Given the description of an element on the screen output the (x, y) to click on. 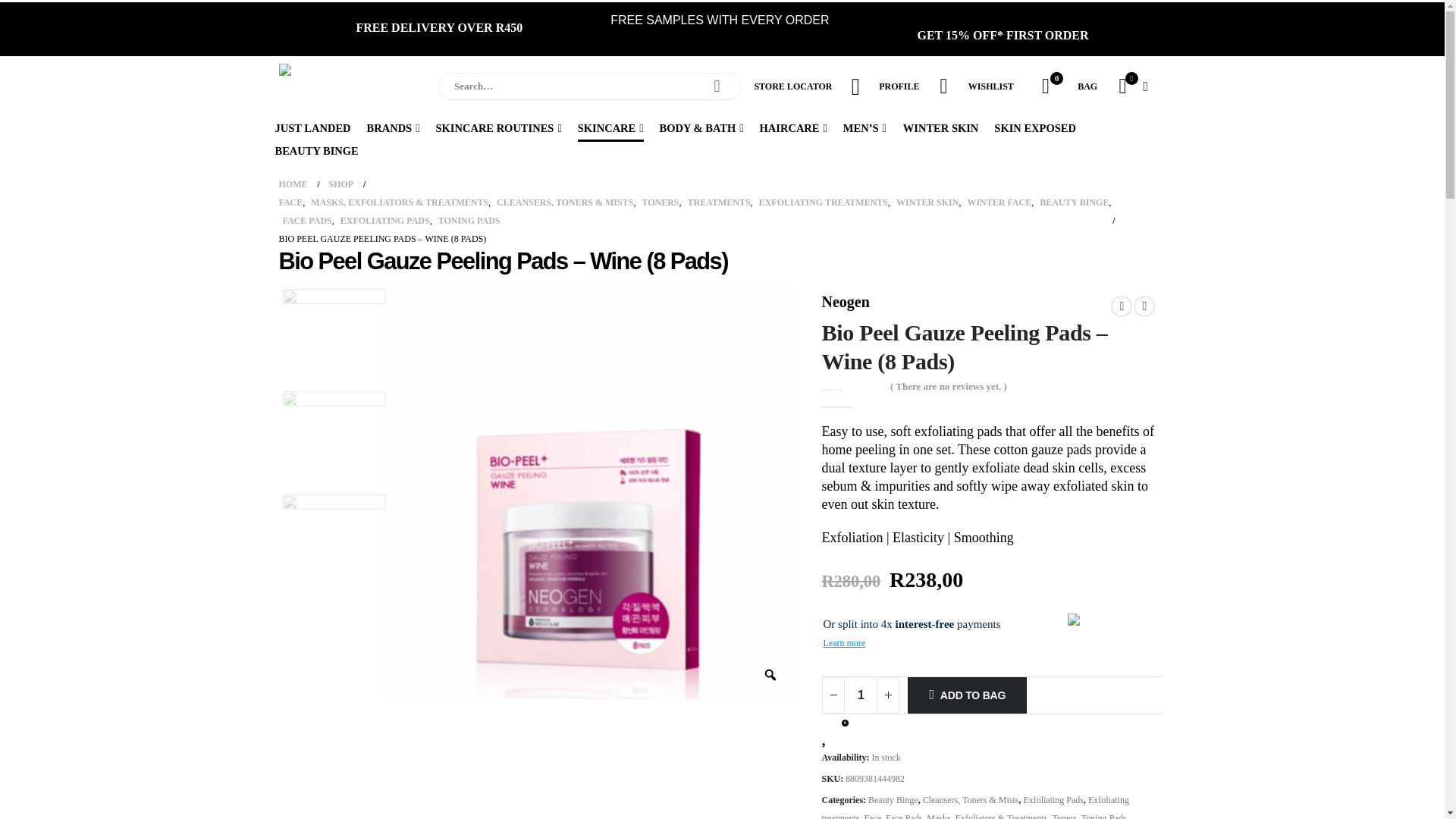
BAG (1087, 86)
My Account (943, 86)
STORE LOCATOR (792, 86)
JUST LANDED (312, 128)
Go to Home Page (293, 184)
BRANDS (393, 128)
1 (860, 695)
PROFILE (898, 86)
0 (1045, 86)
SkiNcolab - Let's talk skin (339, 85)
Search (717, 86)
WISHLIST (990, 86)
Wishlist (1045, 86)
